Given the description of an element on the screen output the (x, y) to click on. 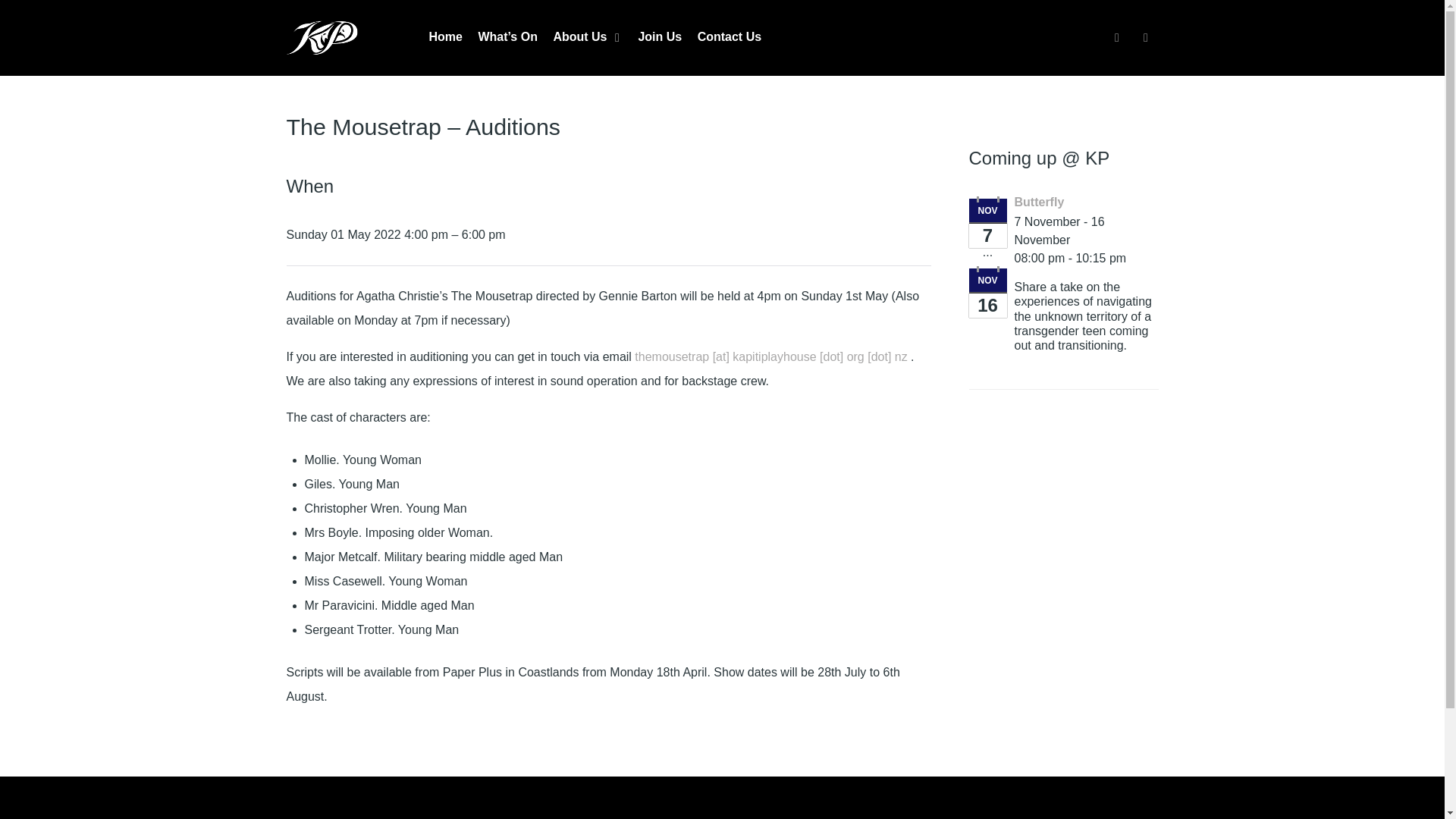
Butterfly (1039, 201)
Facebook (1117, 36)
Contact Us (729, 38)
Twitter (1144, 36)
Join Us (659, 38)
Kapiti Playhouse (335, 37)
About Us (588, 38)
Home (446, 38)
